Given the description of an element on the screen output the (x, y) to click on. 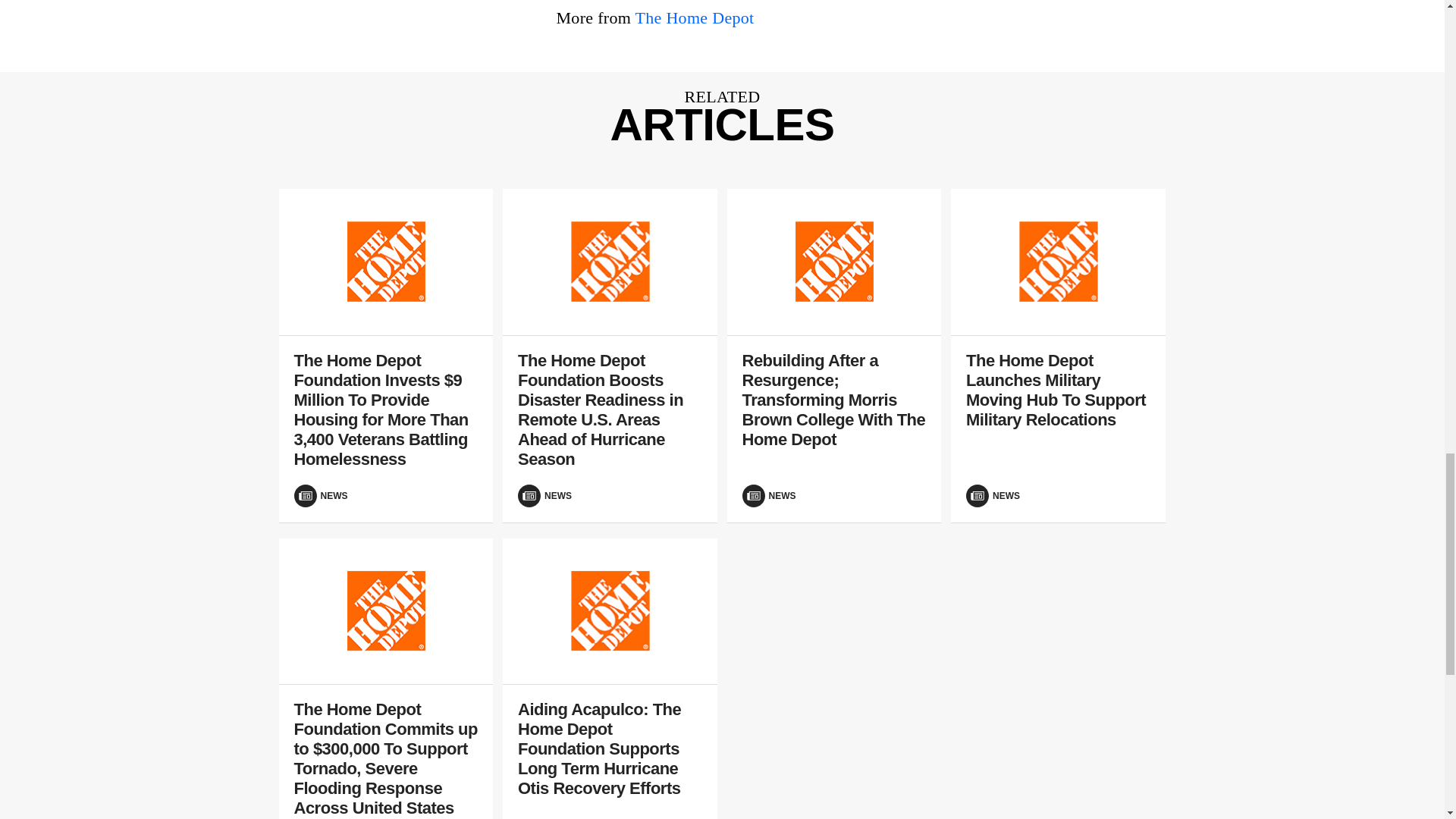
The Home Depot (694, 17)
